Given the description of an element on the screen output the (x, y) to click on. 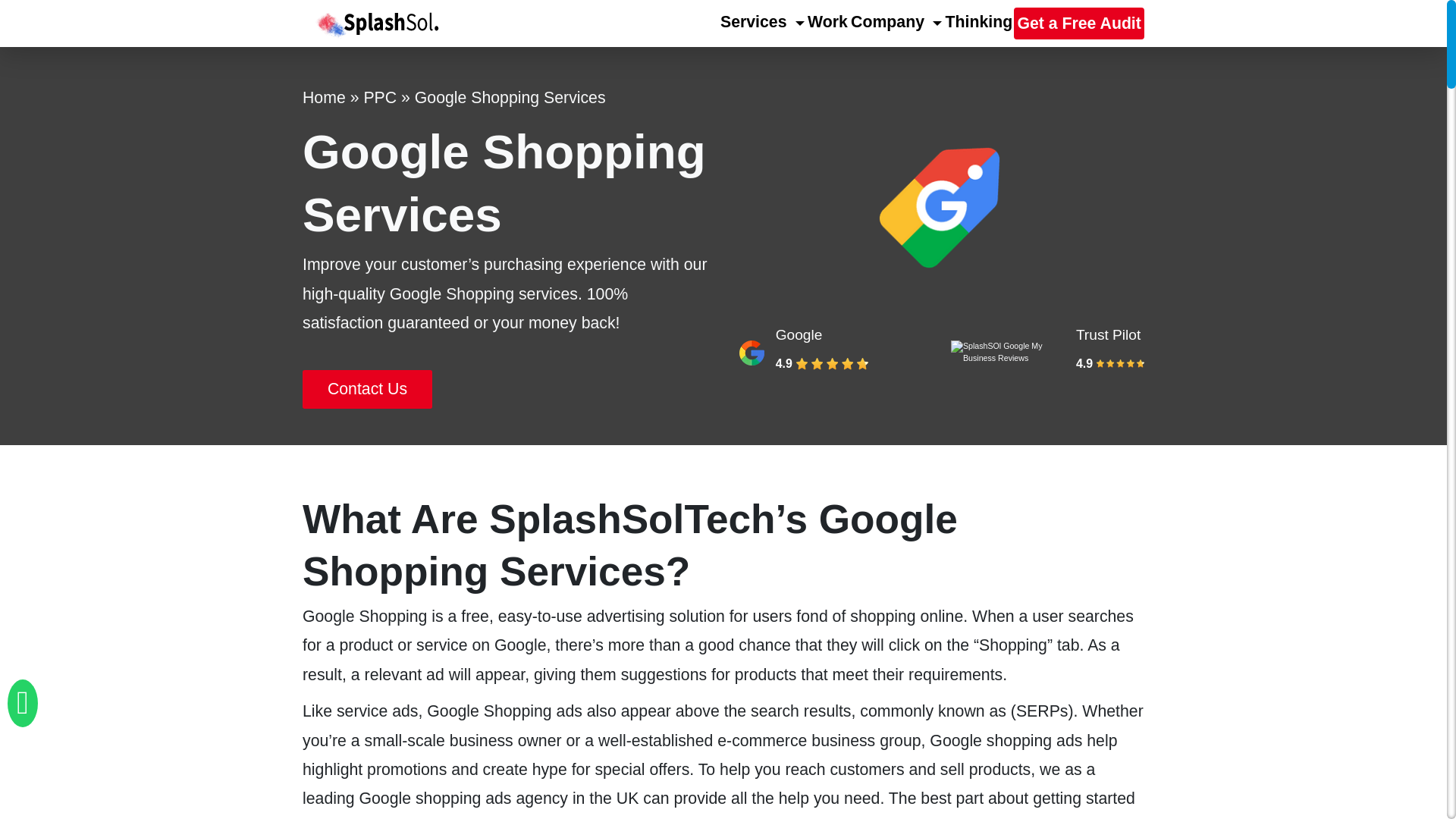
Services (762, 22)
